Given the description of an element on the screen output the (x, y) to click on. 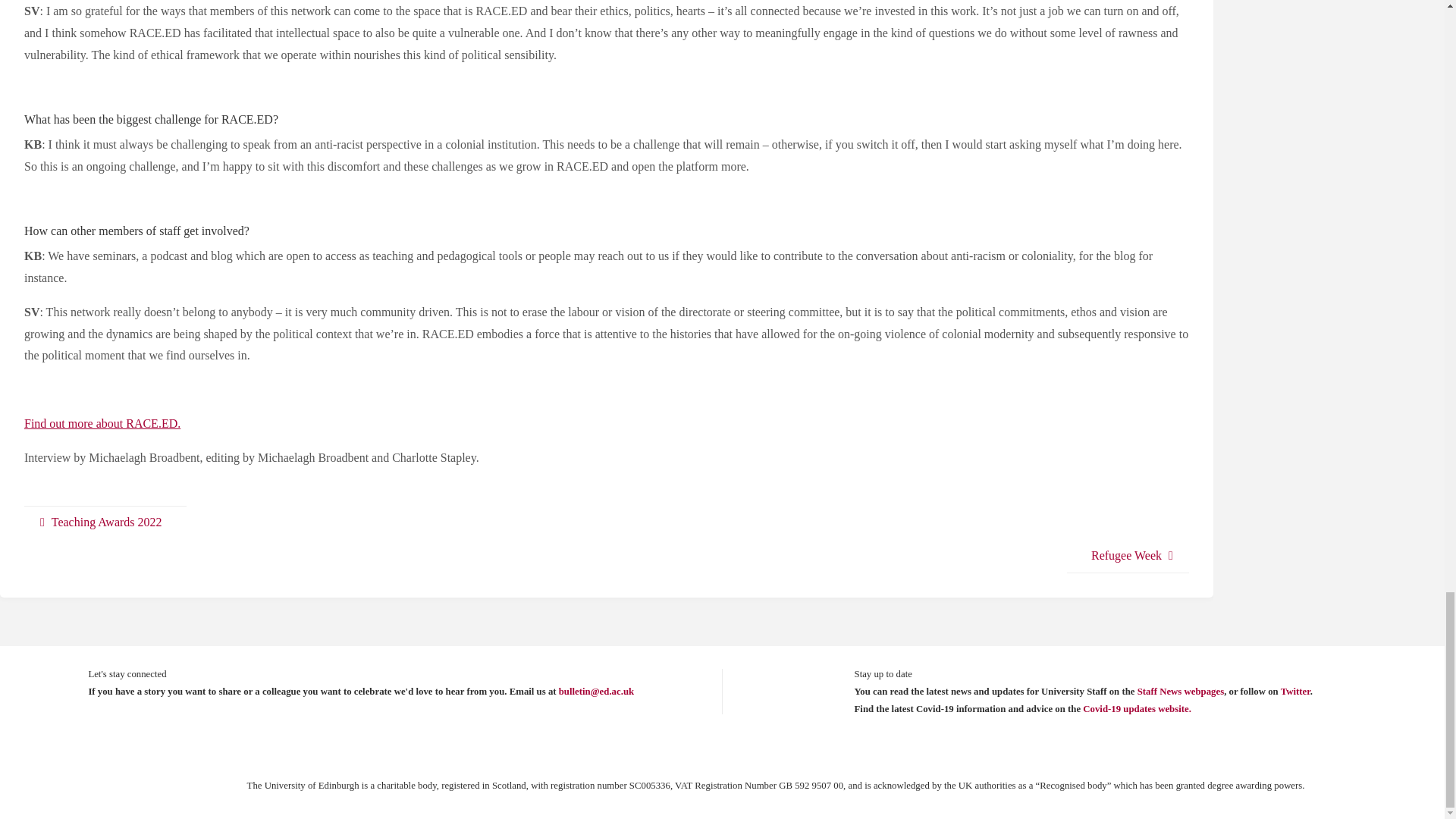
Find out more about RACE.ED. (102, 422)
Staff News webpages (1180, 691)
Refugee Week (1128, 555)
Twitter (1295, 691)
Teaching Awards 2022 (105, 522)
Covid-19 updates website. (1137, 708)
